Given the description of an element on the screen output the (x, y) to click on. 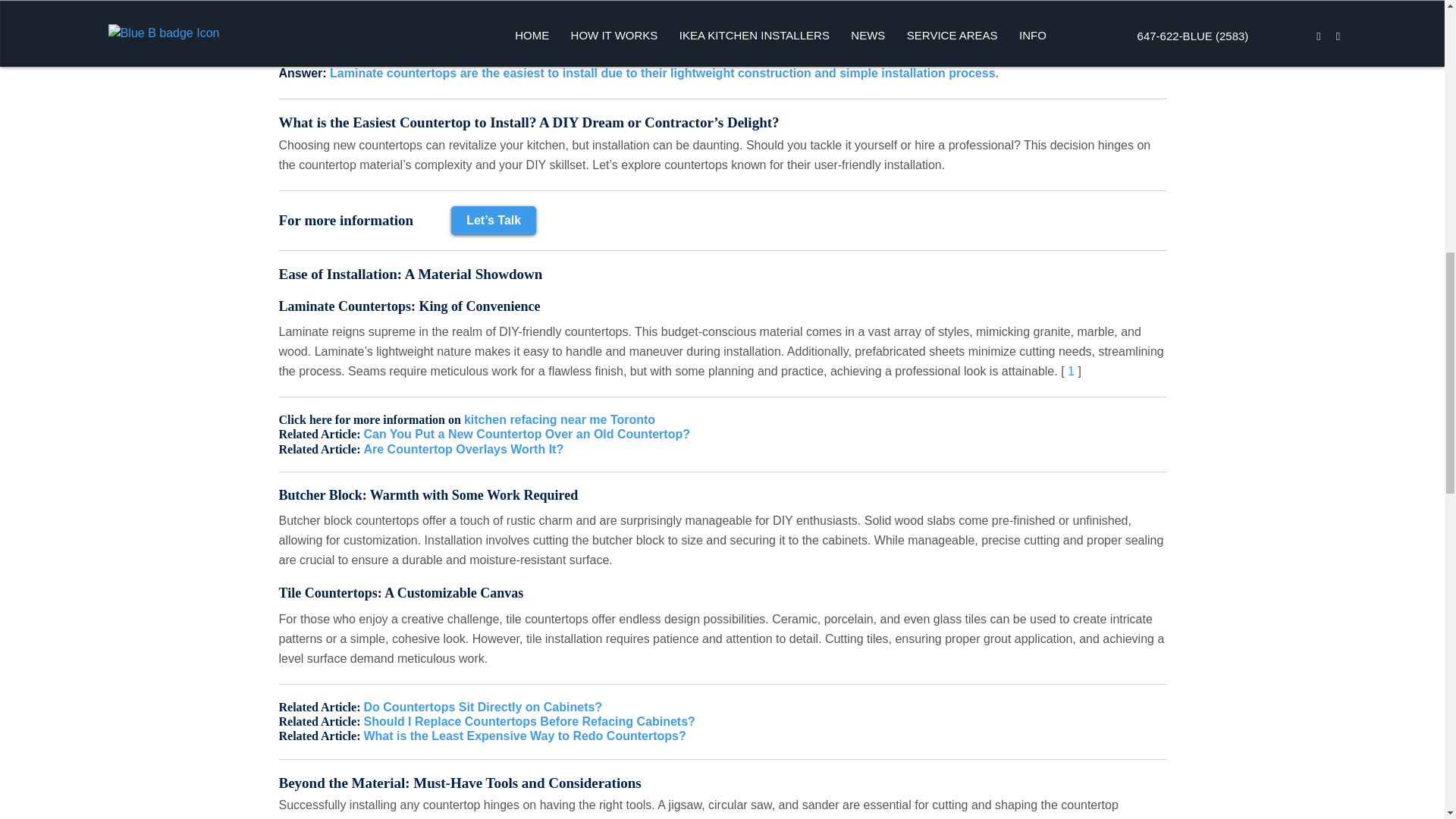
What is the Least Expensive Way to Redo Countertops? (523, 735)
Should I Replace Countertops Before Refacing Cabinets? (528, 721)
kitchen refacing near me Toronto (559, 419)
Are Countertop Overlays Worth It? (462, 449)
What is the Easiest Countertop to Install? (491, 4)
Do Countertops Sit Directly on Cabinets? (482, 707)
Home (296, 4)
Can You Put a New Countertop Over an Old Countertop? (526, 433)
1 (1071, 370)
News (342, 4)
